Given the description of an element on the screen output the (x, y) to click on. 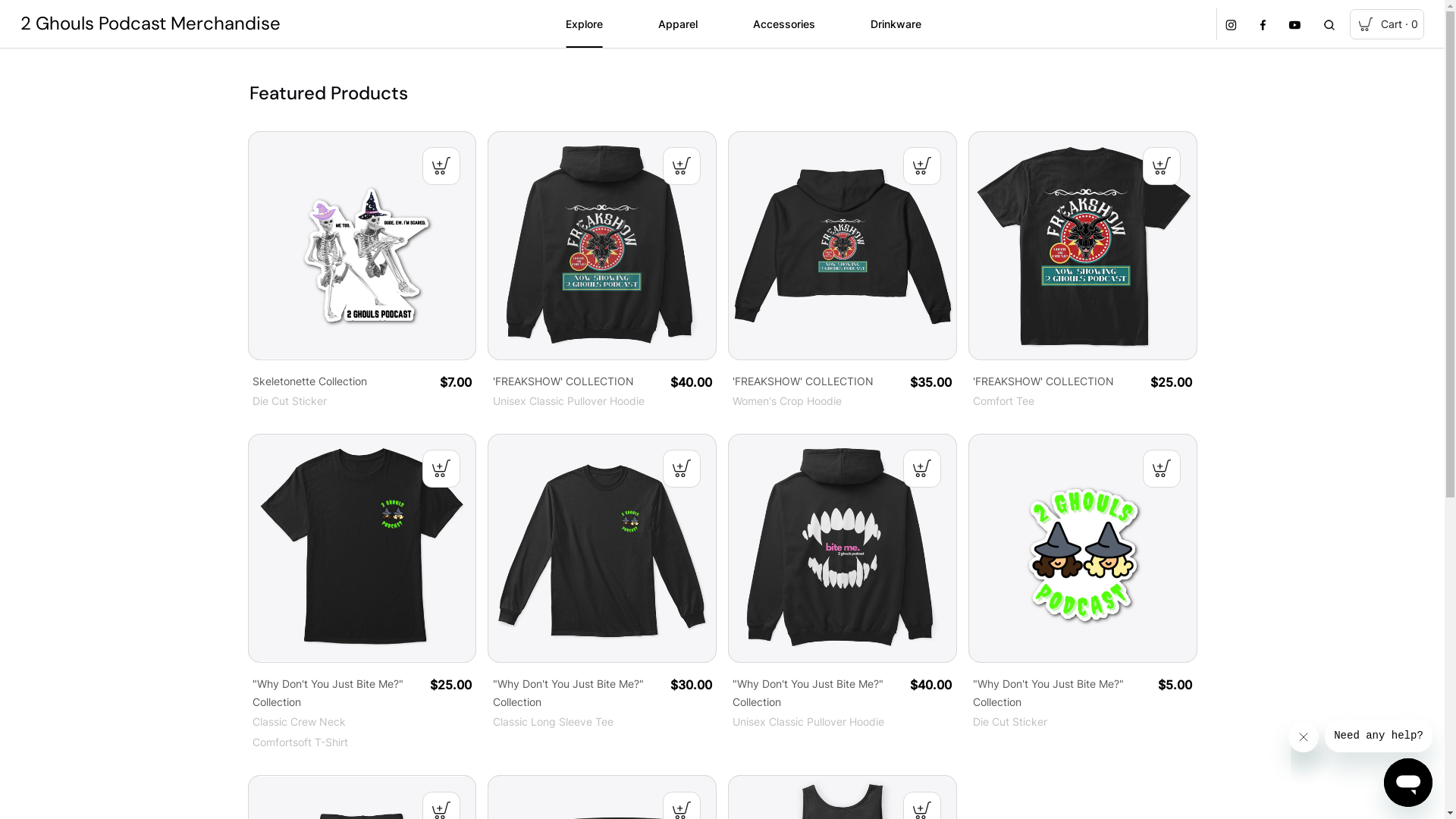
2 Ghouls Podcast Merchandise Element type: text (150, 23)
Skeletonette Collection
Die Cut Sticker
$7.00 Element type: text (361, 271)
'FREAKSHOW' COLLECTION
Unisex Classic Pullover Hoodie
$40.00 Element type: text (601, 271)
Apparel Element type: text (677, 24)
Close message Element type: hover (1303, 736)
Message from company Element type: hover (1378, 735)
'FREAKSHOW' COLLECTION
Women's Crop Hoodie
$35.00 Element type: text (842, 271)
Drinkware Element type: text (895, 24)
Accessories Element type: text (784, 24)
Button to launch messaging window Element type: hover (1407, 782)
Explore Element type: text (583, 24)
'FREAKSHOW' COLLECTION
Comfort Tee
$25.00 Element type: text (1082, 271)
